Given the description of an element on the screen output the (x, y) to click on. 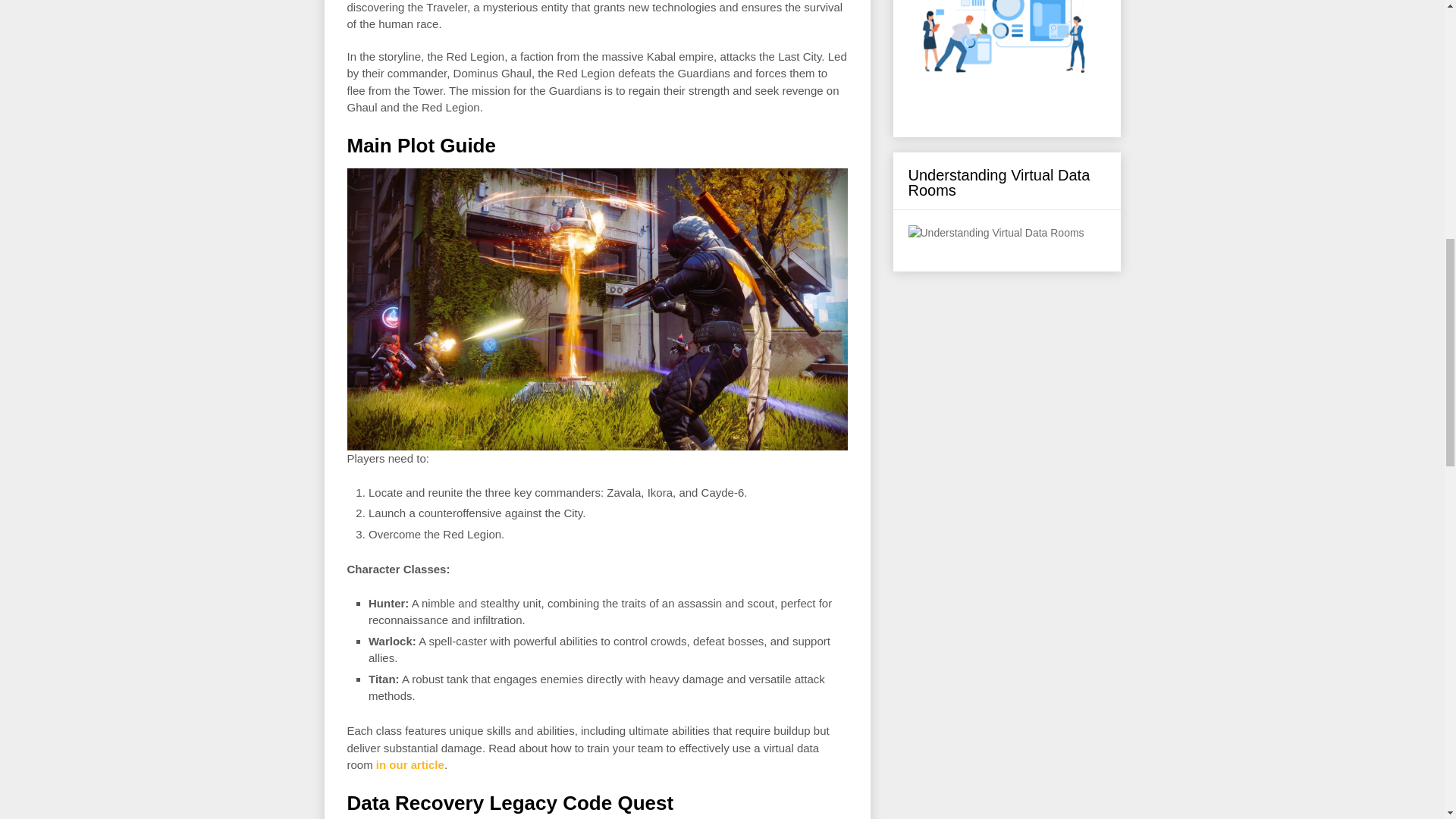
in our article (409, 764)
